Given the description of an element on the screen output the (x, y) to click on. 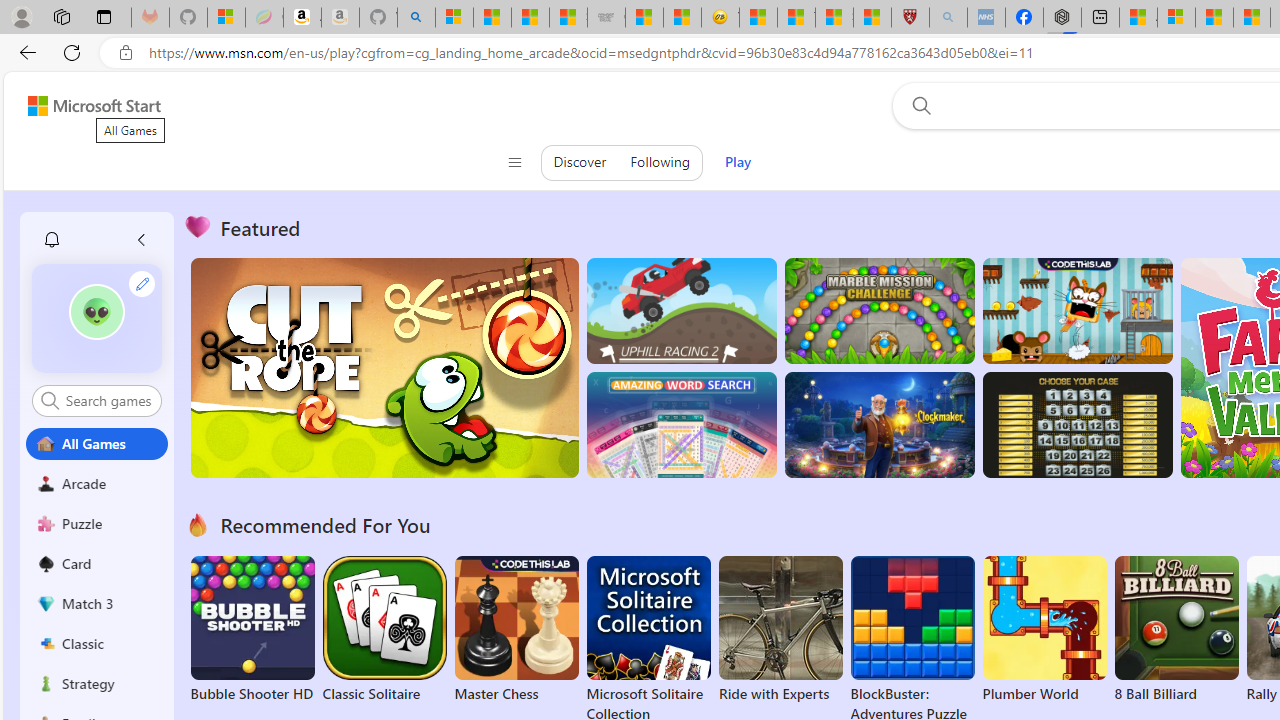
Recipes - MSN (757, 17)
Class: notification-item (51, 239)
Class: profile-edit (142, 283)
AutomationID: control (108, 400)
Squicky (1076, 310)
